Given the description of an element on the screen output the (x, y) to click on. 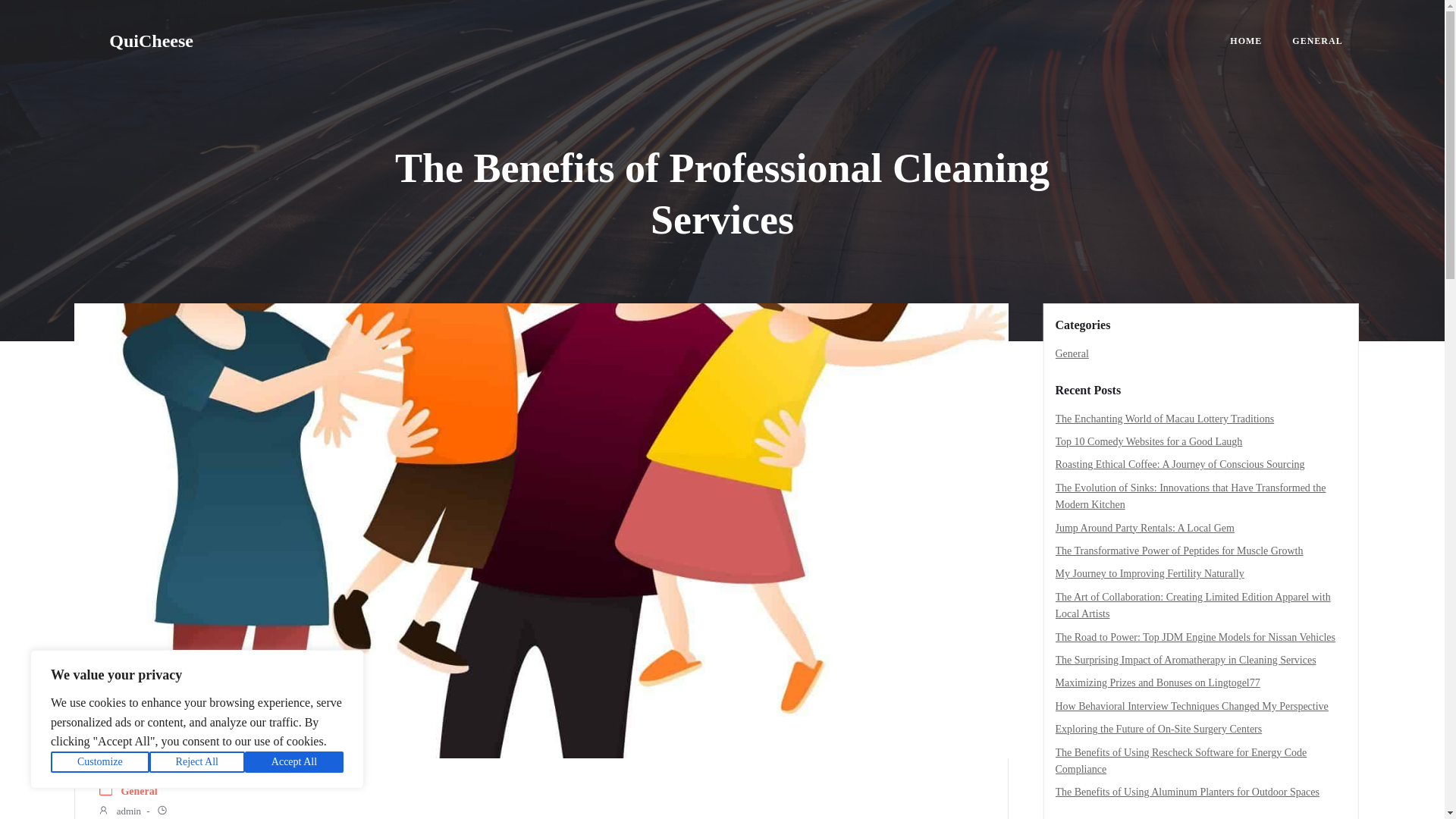
QuiCheese (151, 40)
The Enchanting World of Macau Lottery Traditions (1165, 419)
GENERAL (1317, 40)
Roasting Ethical Coffee: A Journey of Conscious Sourcing (1179, 464)
Reject All (196, 762)
admin (119, 811)
General (138, 791)
Accept All (293, 762)
Top 10 Comedy Websites for a Good Laugh (1149, 441)
HOME (1246, 40)
Customize (99, 762)
General (1072, 353)
